Given the description of an element on the screen output the (x, y) to click on. 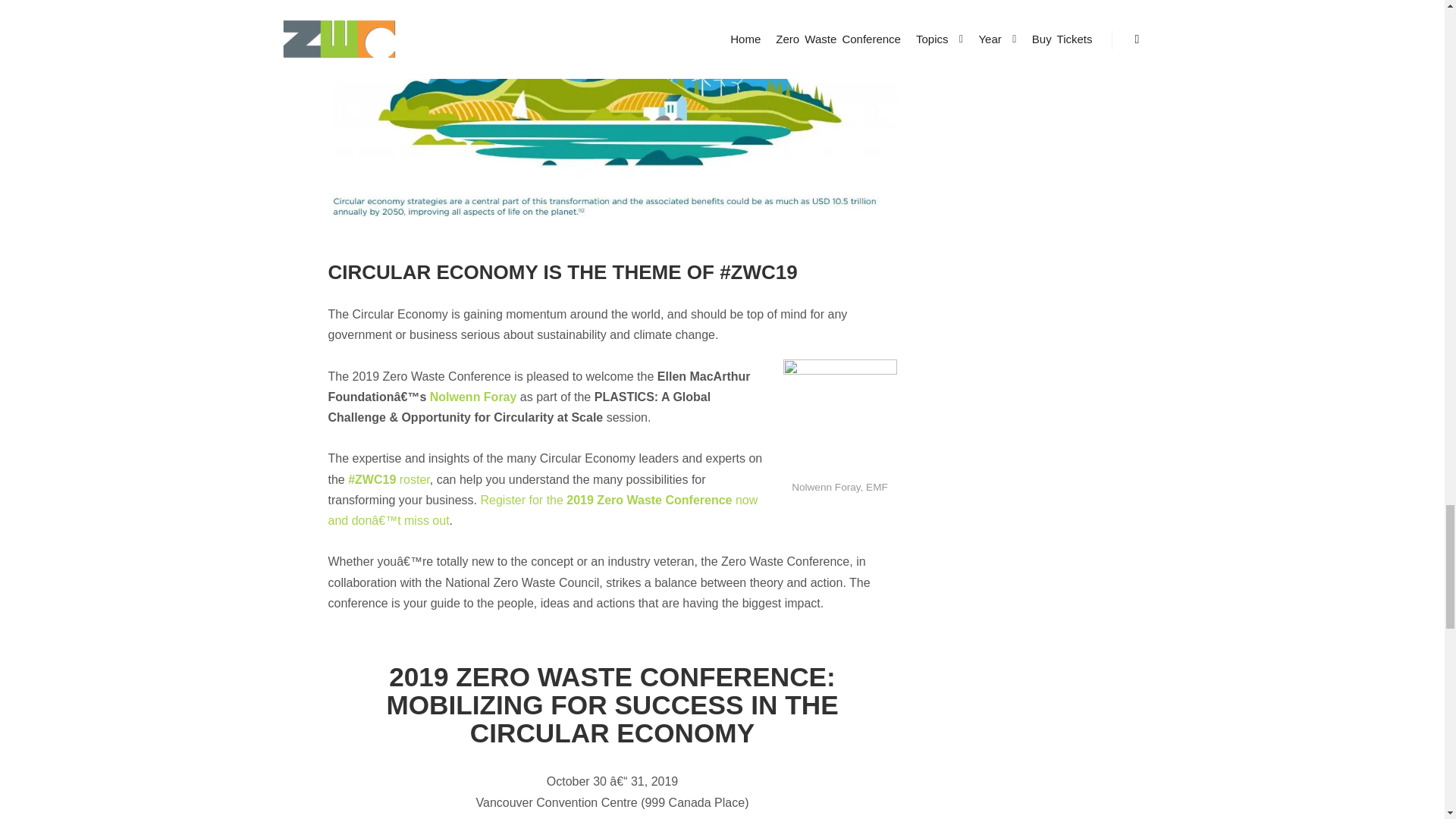
Nolwenn Foray (472, 396)
